Given the description of an element on the screen output the (x, y) to click on. 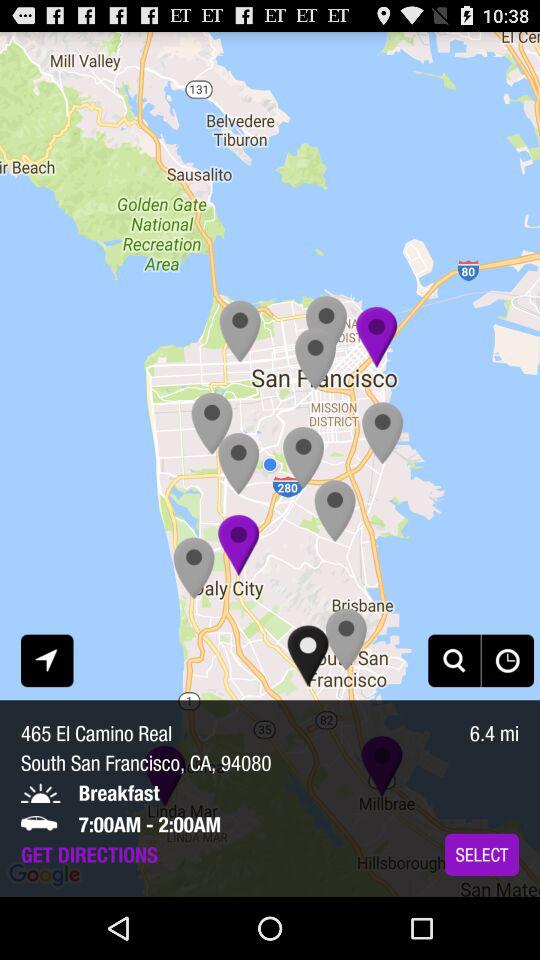
click item to the right of 7 00am 2 (482, 854)
